Given the description of an element on the screen output the (x, y) to click on. 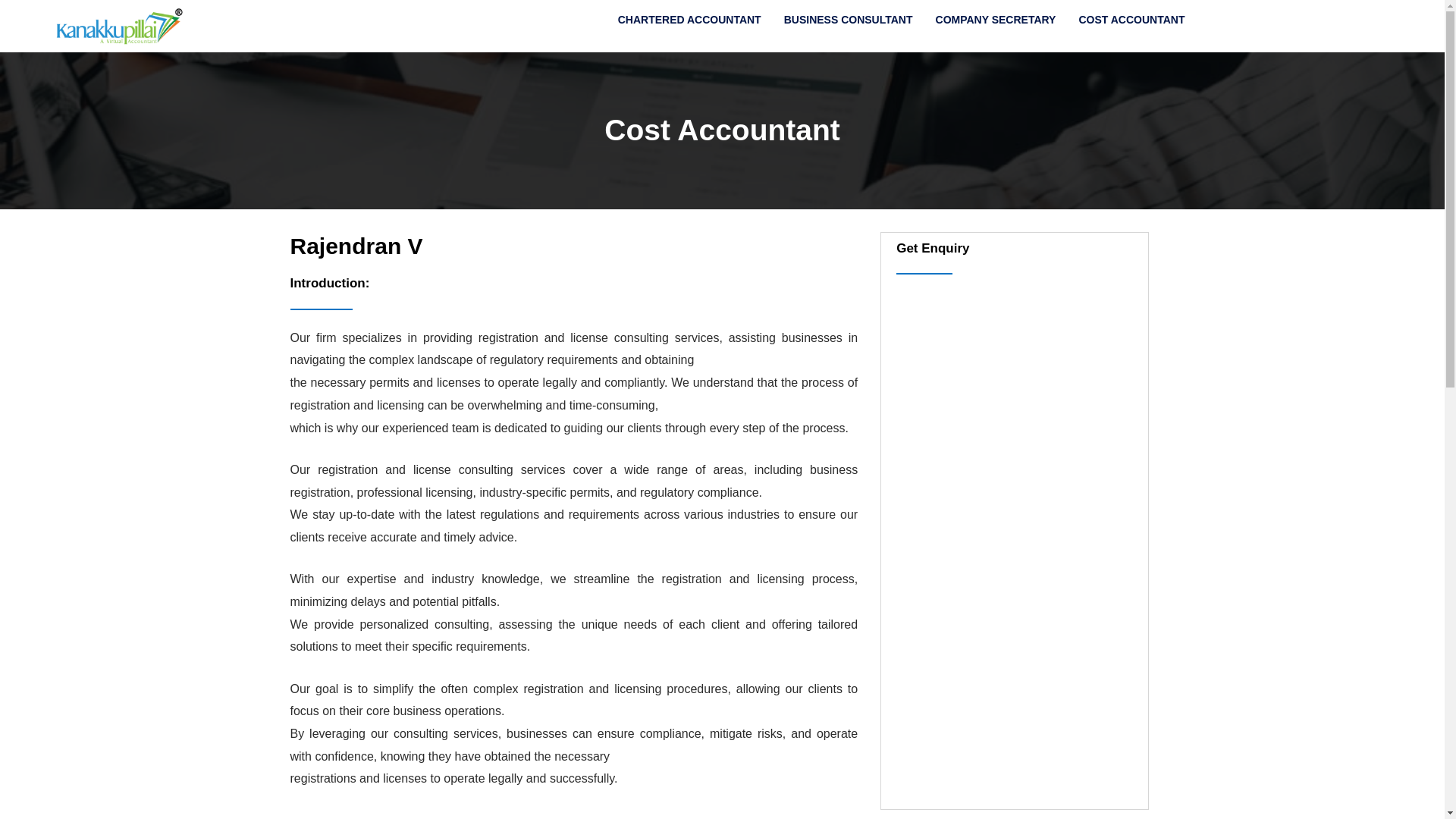
COMPANY SECRETARY (995, 19)
BUSINESS CONSULTANT (848, 19)
COST ACCOUNTANT (1131, 19)
CHARTERED ACCOUNTANT (690, 19)
